Given the description of an element on the screen output the (x, y) to click on. 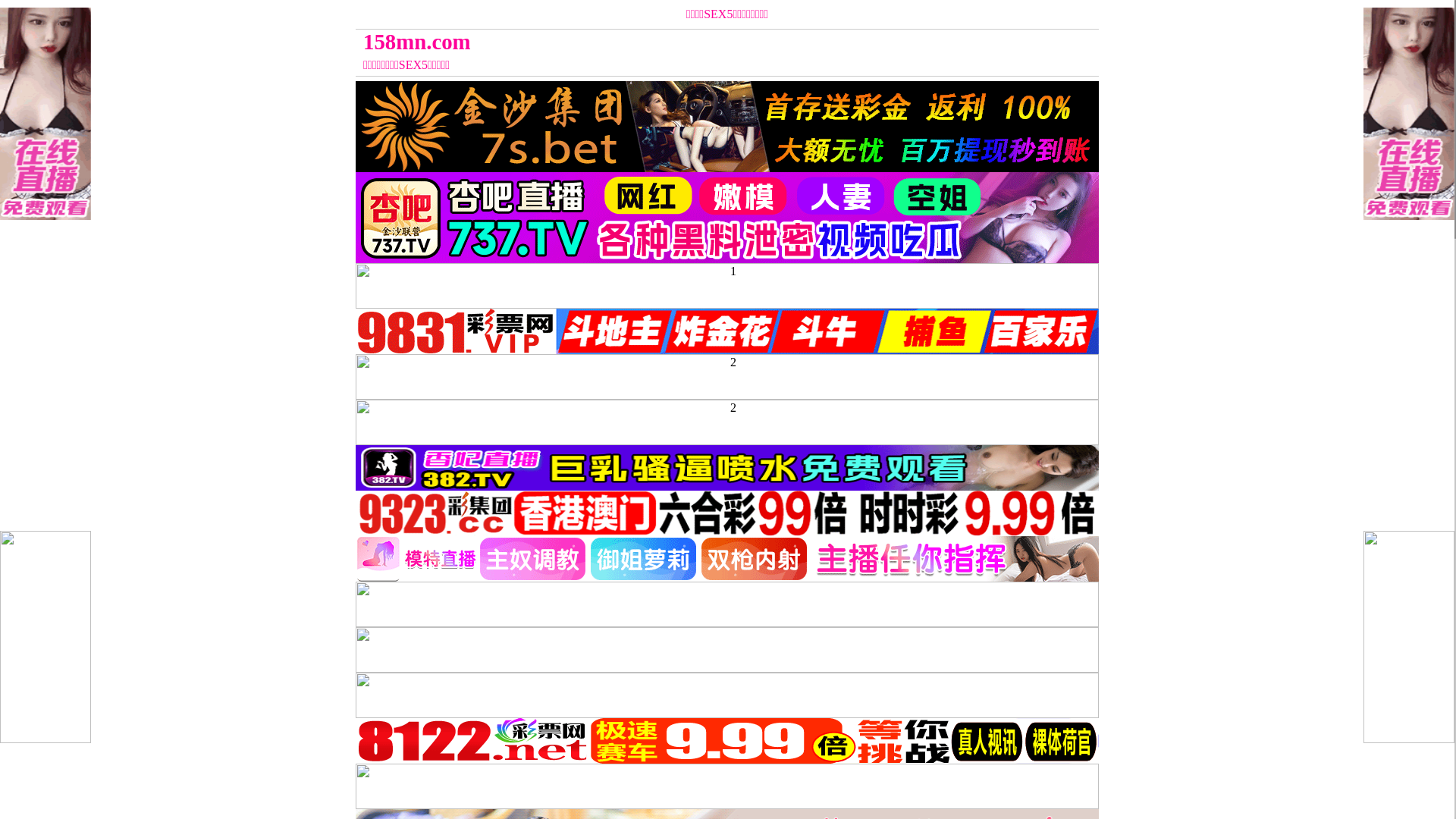
158mn.com Element type: text (634, 41)
